Given the description of an element on the screen output the (x, y) to click on. 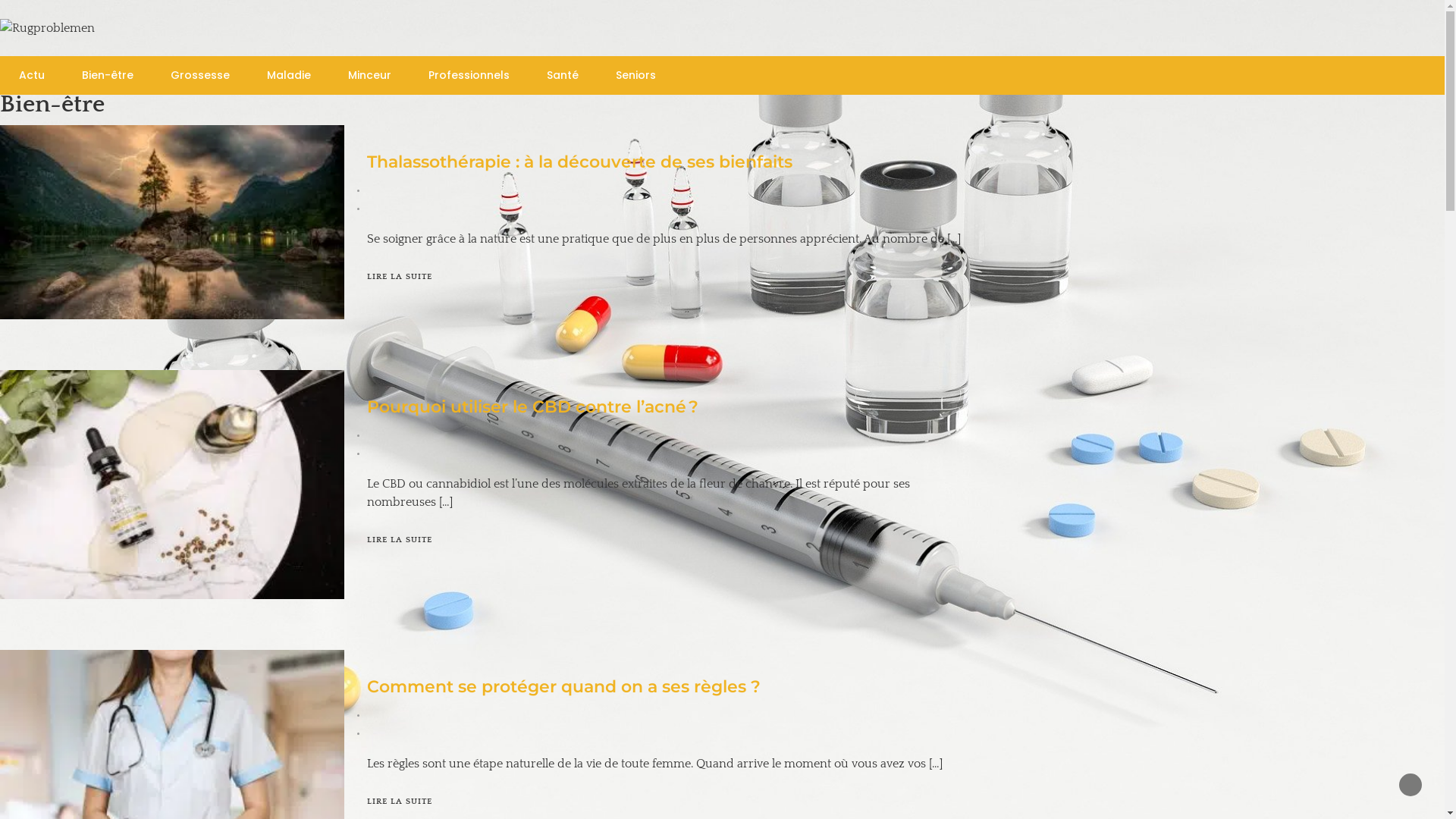
LIRE LA SUITE Element type: text (399, 276)
Actu Element type: text (31, 75)
LIRE LA SUITE Element type: text (399, 801)
Maladie Element type: text (288, 75)
Seniors Element type: text (635, 75)
Grossesse Element type: text (199, 75)
Professionnels Element type: text (468, 75)
LIRE LA SUITE Element type: text (399, 539)
Minceur Element type: text (369, 75)
